Given the description of an element on the screen output the (x, y) to click on. 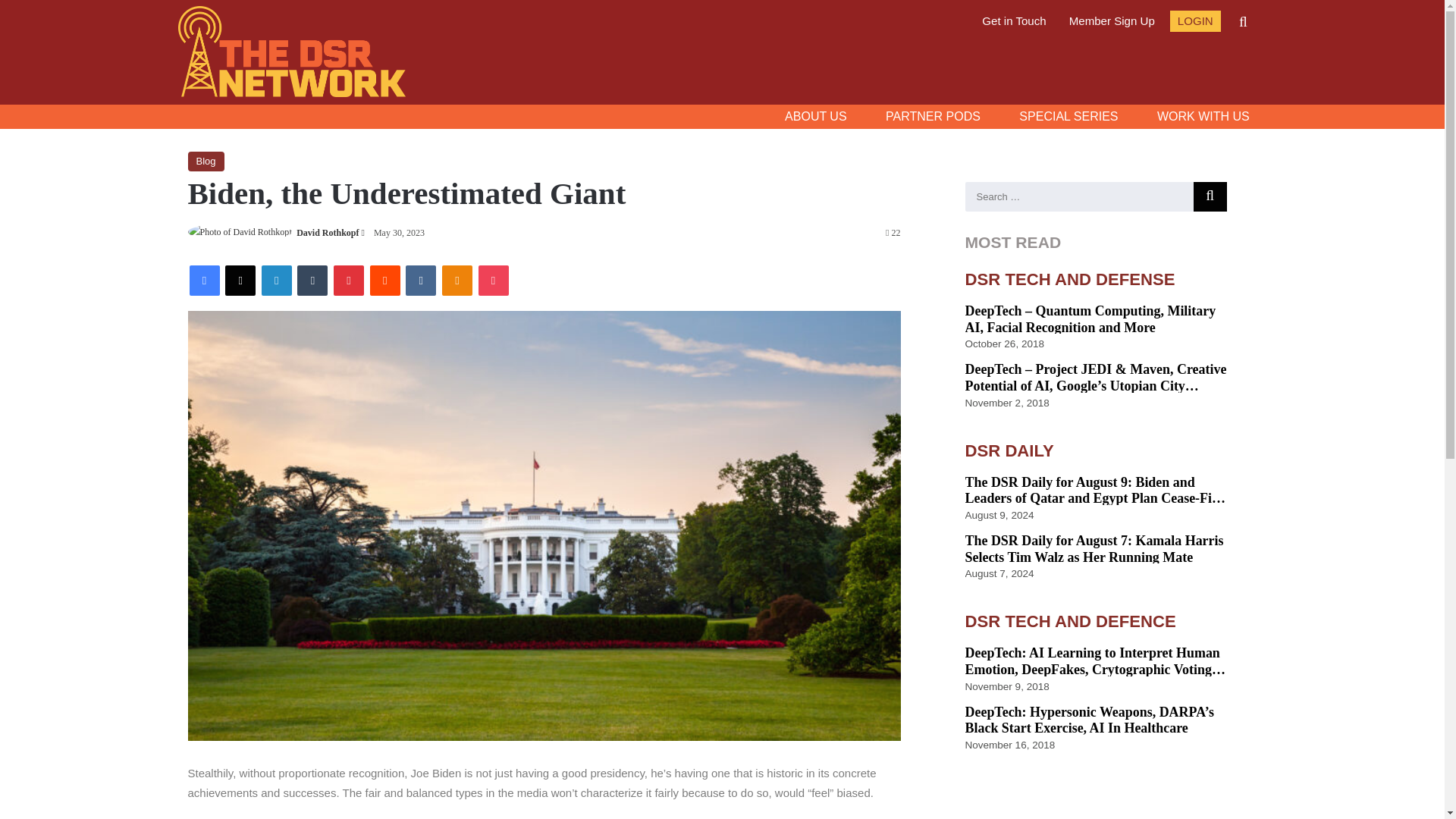
Reddit (384, 280)
Tumblr (312, 280)
LOGIN (1195, 20)
X (240, 280)
Get in Touch (1013, 20)
Pocket (492, 280)
PARTNER PODS (932, 116)
David Rothkopf (327, 232)
Pocket (492, 280)
PARTNER PODS (932, 116)
